Given the description of an element on the screen output the (x, y) to click on. 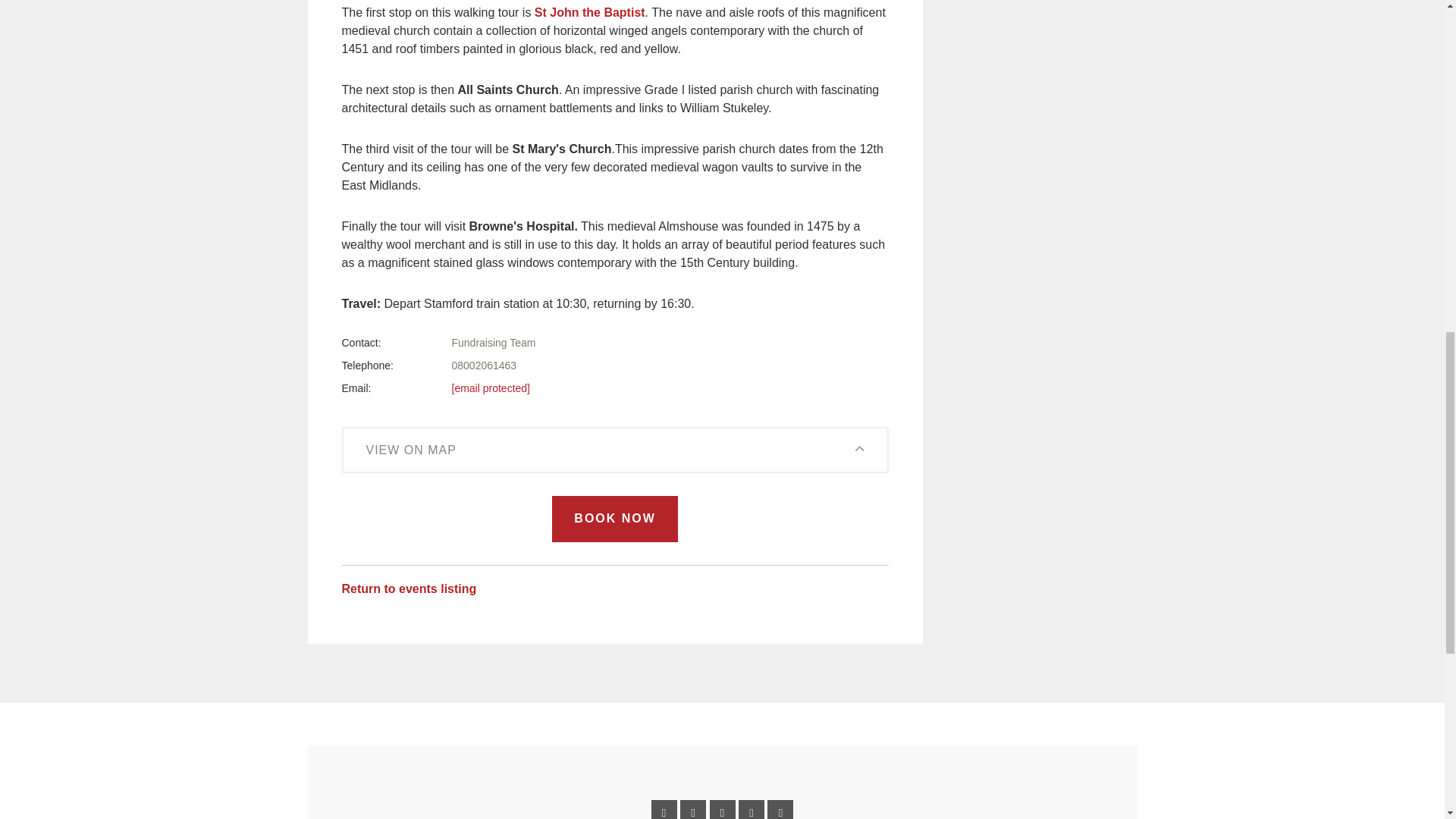
YouTube channel (780, 809)
Facebok (663, 809)
National Churches Trust Instagram (751, 809)
